Given the description of an element on the screen output the (x, y) to click on. 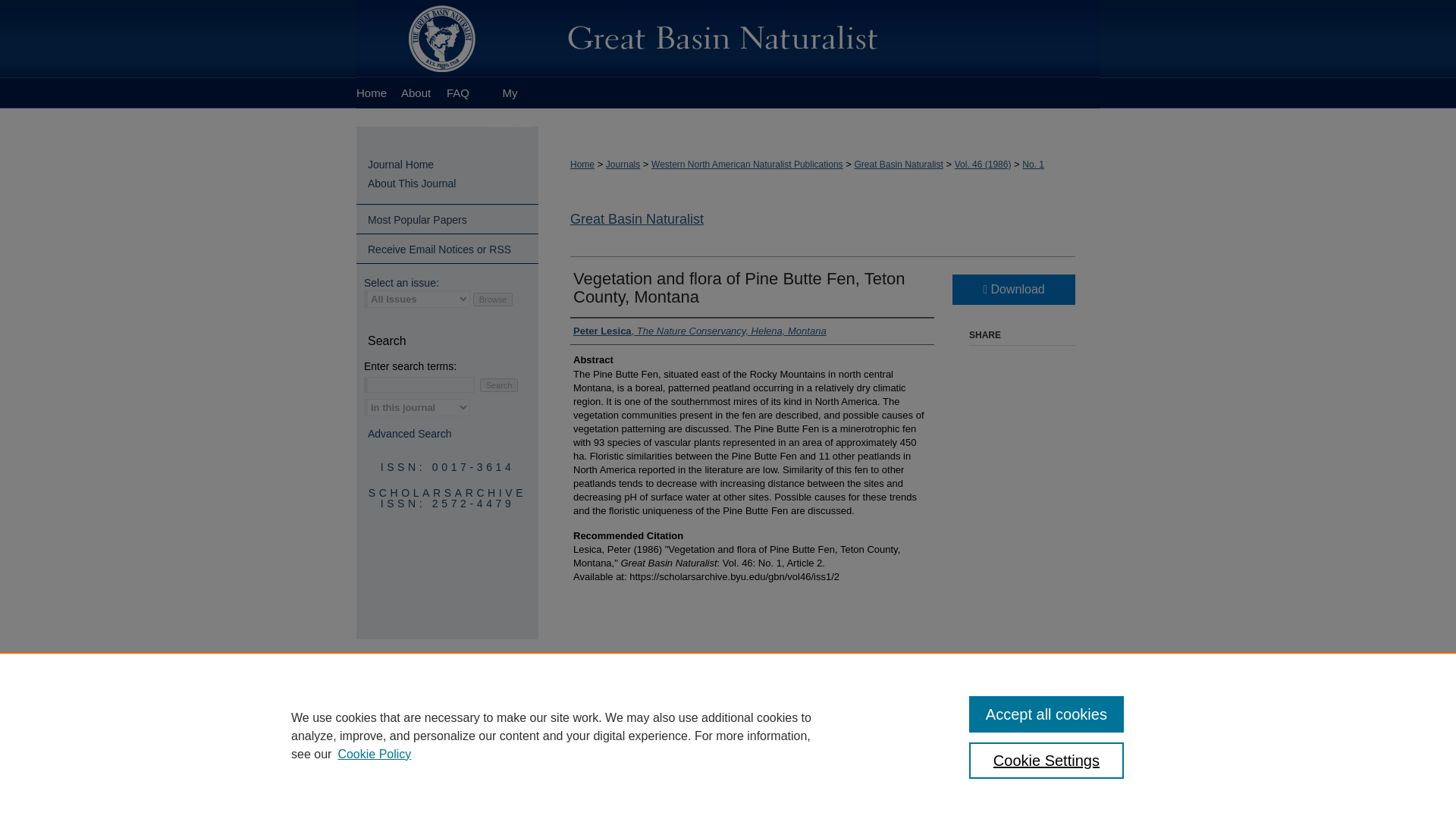
Advanced Search (409, 433)
No. 1 (1032, 163)
About (415, 92)
Journal Home (453, 164)
BYU ScholarsArchive (727, 38)
About (621, 677)
Browse (493, 299)
Download (1013, 289)
Browse (493, 299)
Home (374, 92)
Peter Lesica, The Nature Conservancy, Helena, Montana (700, 331)
FAQ (456, 92)
Elsevier - Digital Commons (447, 685)
View the top downloaded papers (447, 219)
FAQ (456, 92)
